Given the description of an element on the screen output the (x, y) to click on. 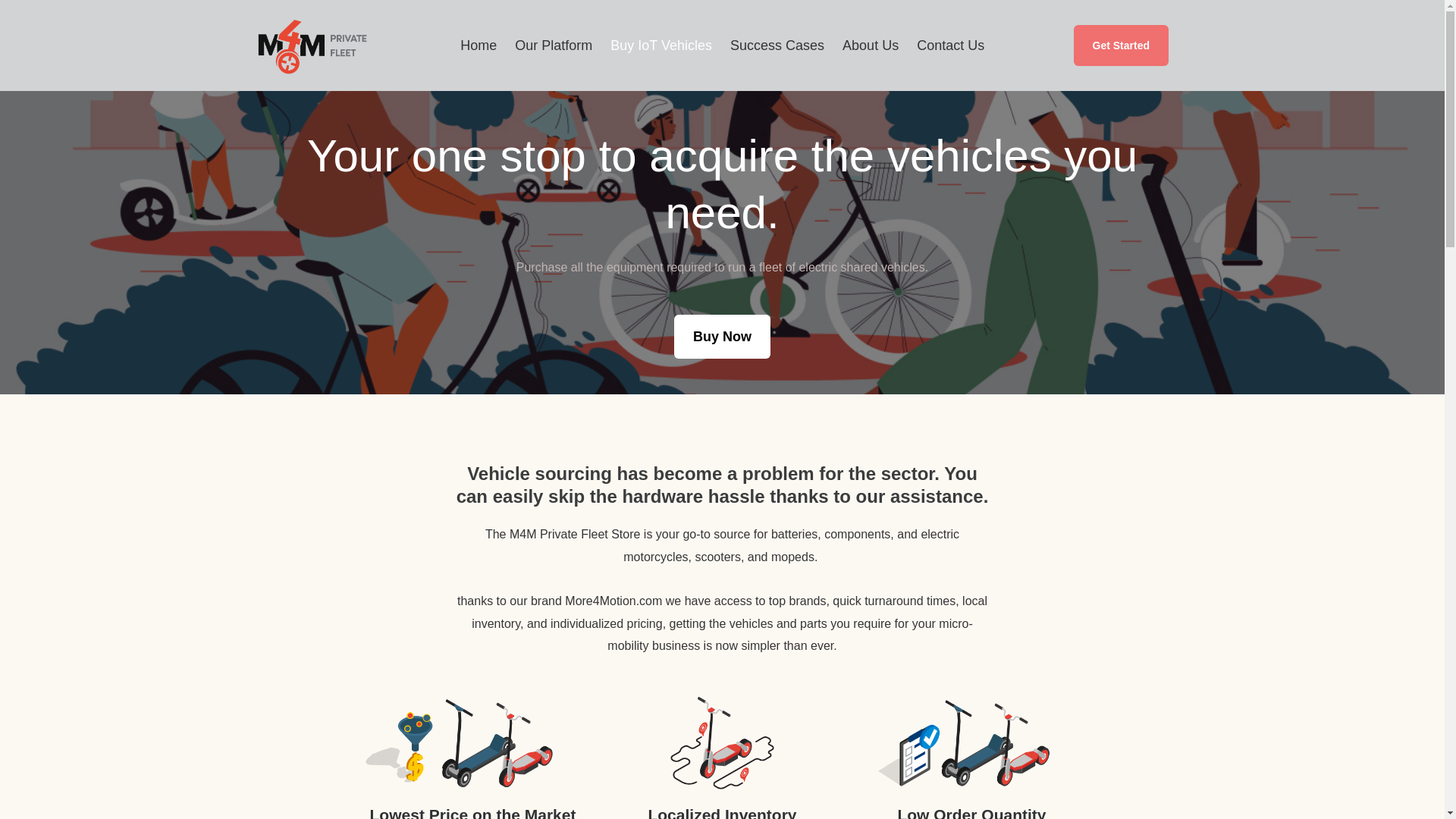
Our Platform (553, 45)
Success Cases (776, 45)
Home (478, 45)
Contact Us (949, 45)
Buy IoT Vehicles (660, 45)
Get Started (1121, 45)
Buy Now (722, 336)
About Us (869, 45)
